Given the description of an element on the screen output the (x, y) to click on. 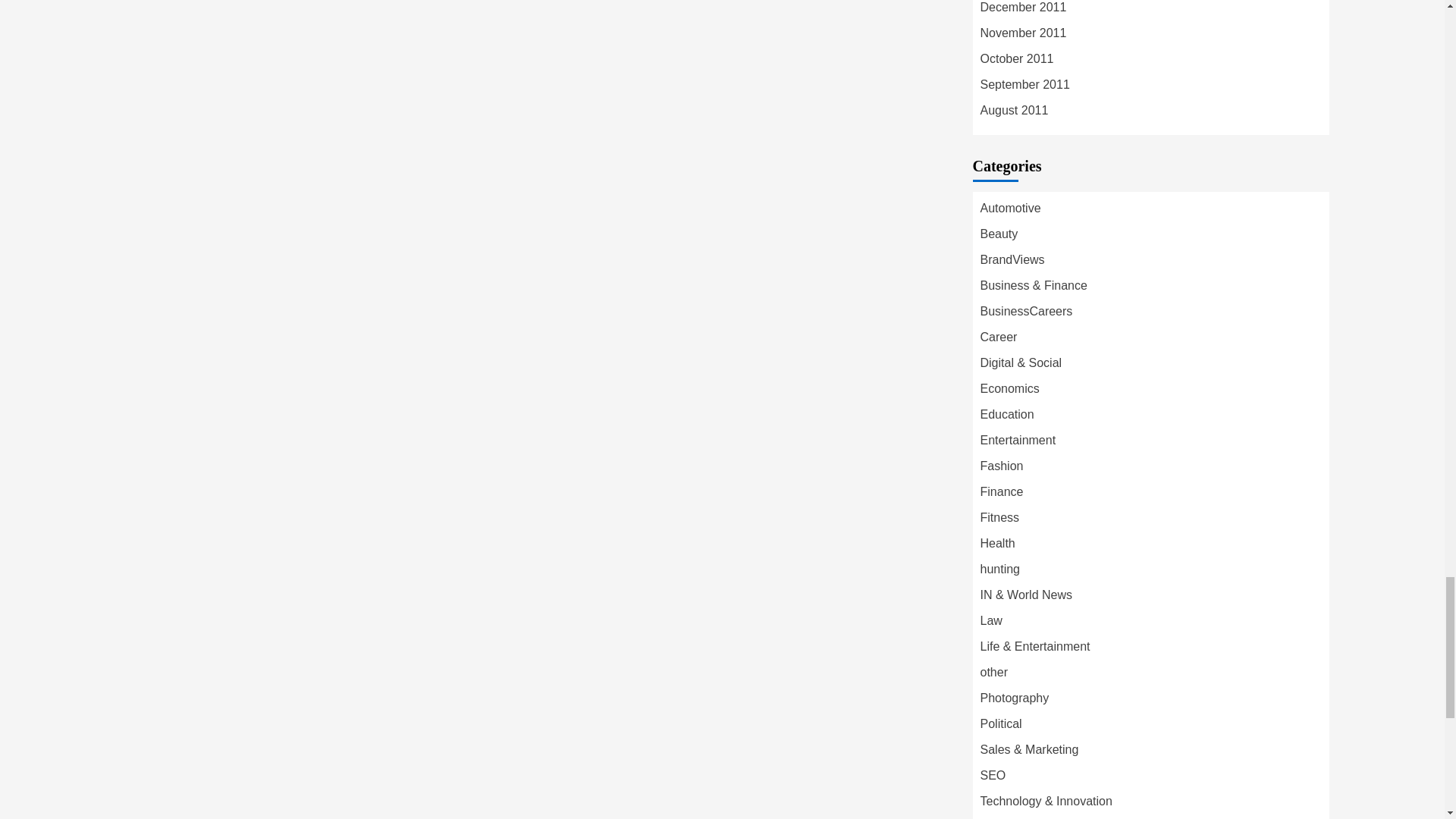
other (993, 671)
automotive (1010, 207)
BusinessCareers (1025, 310)
hunting (999, 568)
